Given the description of an element on the screen output the (x, y) to click on. 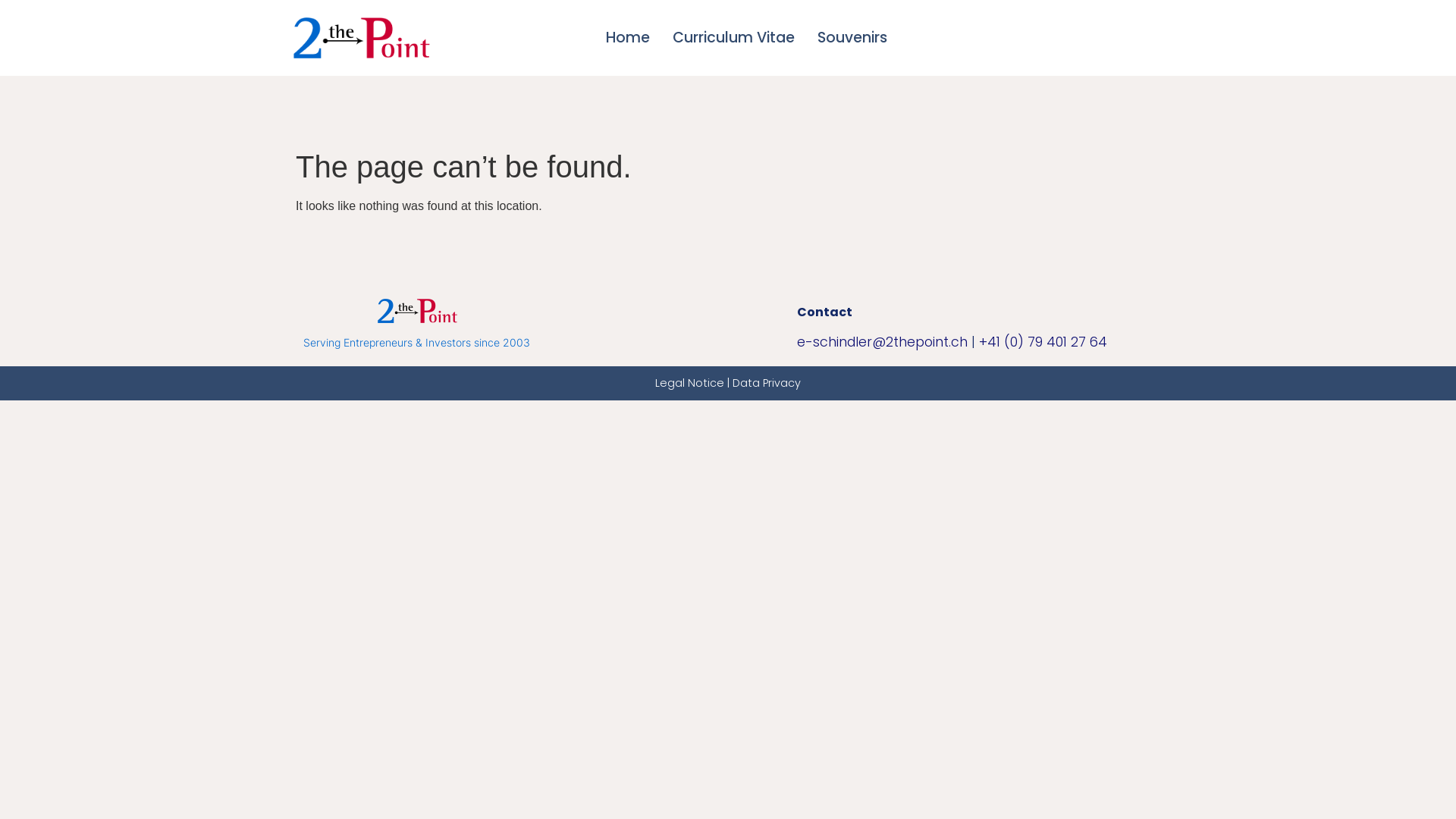
cropped-2thepointlogo.png Element type: hover (416, 310)
Souvenirs Element type: text (852, 37)
Curriculum Vitae Element type: text (733, 37)
Legal Notice Element type: text (689, 382)
+41 (0) 79 401 27 64 Element type: text (1043, 341)
Data Privacy Element type: text (766, 382)
e-schindler@2thepoint.ch Element type: text (882, 341)
Home Element type: text (627, 37)
